Given the description of an element on the screen output the (x, y) to click on. 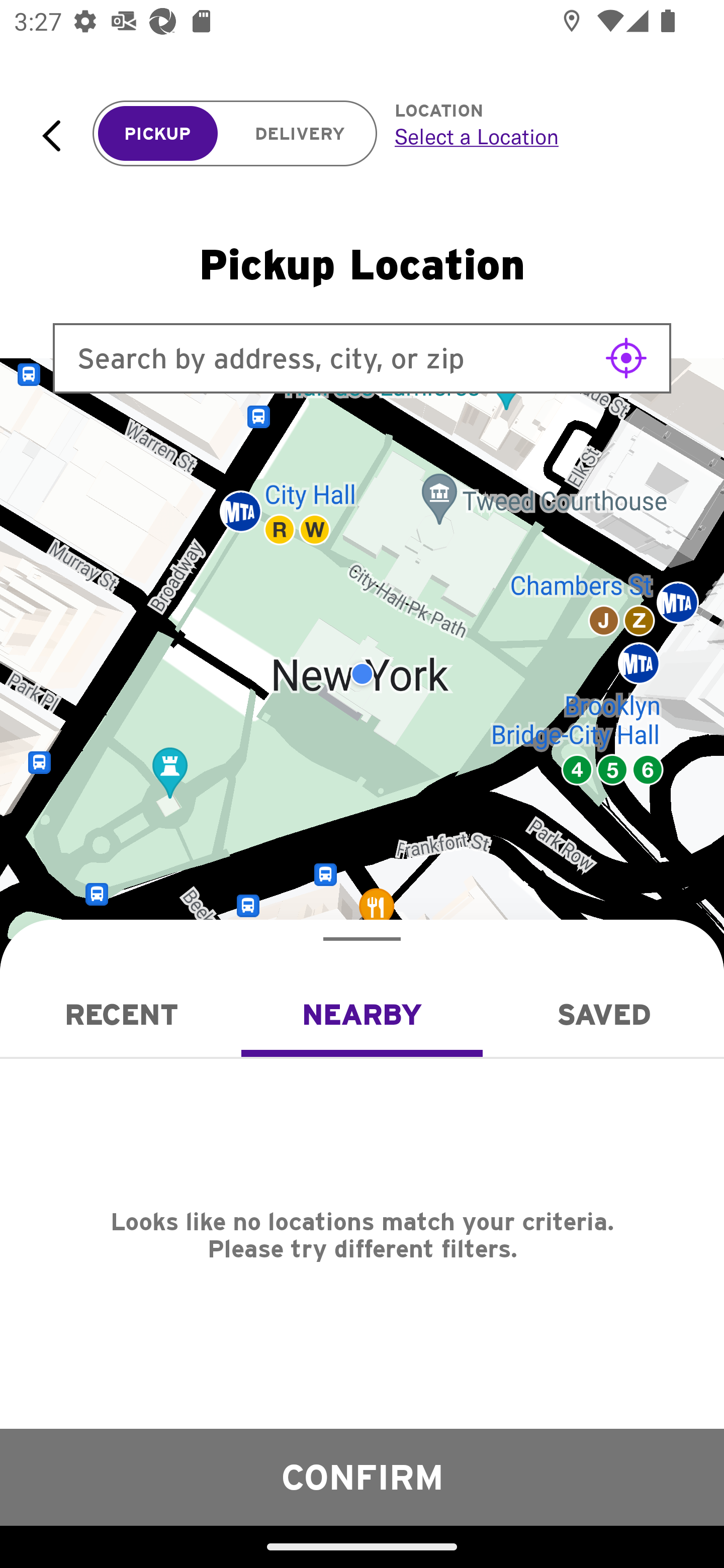
PICKUP (157, 133)
DELIVERY (299, 133)
Select a Location (536, 136)
Search by address, city, or zip (361, 358)
Google Map (362, 674)
Recent RECENT (120, 1014)
Saved SAVED (603, 1014)
CONFIRM (362, 1476)
